Given the description of an element on the screen output the (x, y) to click on. 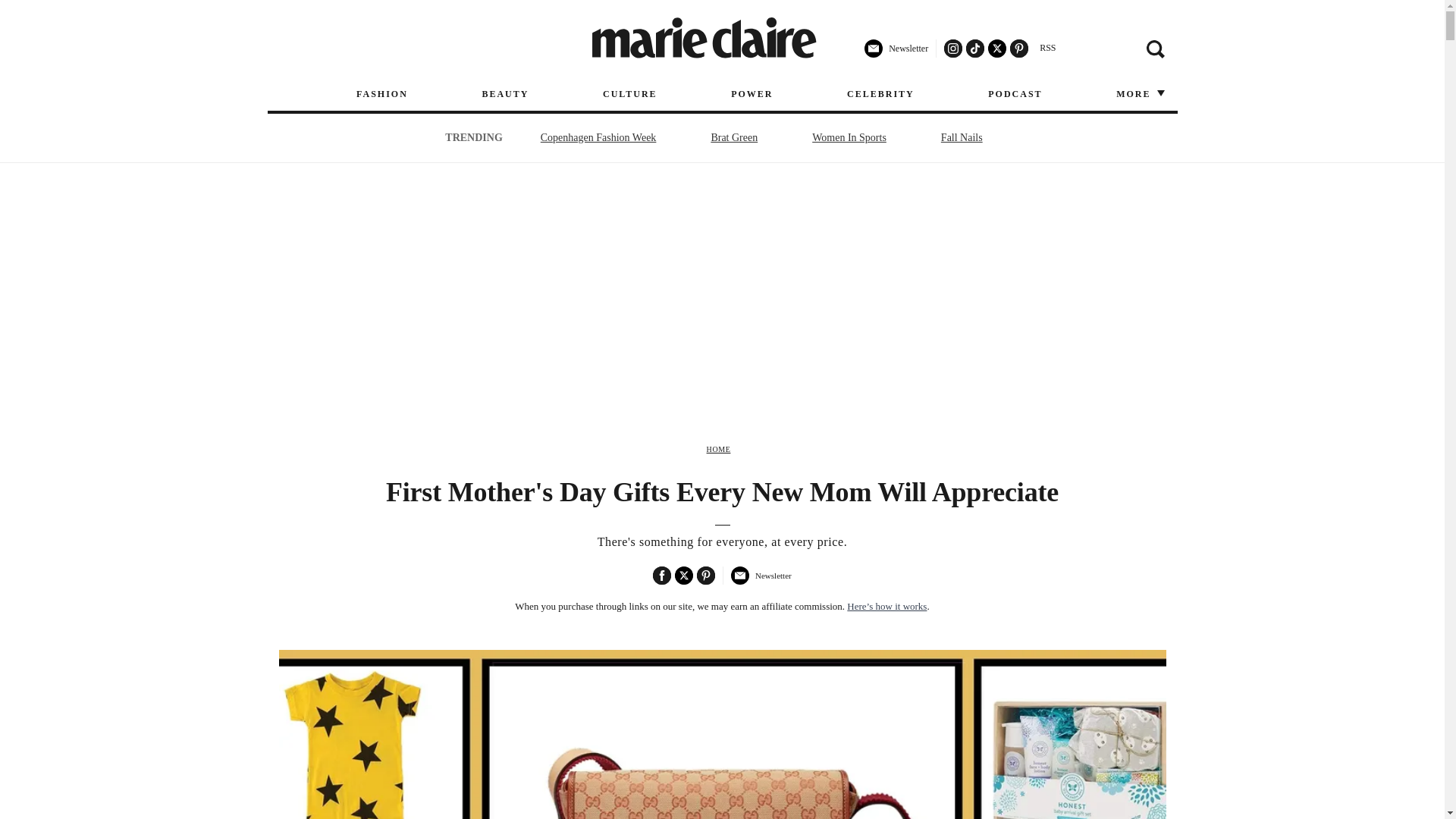
Newsletter (760, 581)
FASHION (381, 94)
CELEBRITY (880, 94)
Fall Nails (962, 137)
CULTURE (630, 94)
POWER (751, 94)
Women In Sports (848, 137)
RSS (1047, 47)
BEAUTY (504, 94)
Brat Green (733, 137)
